Given the description of an element on the screen output the (x, y) to click on. 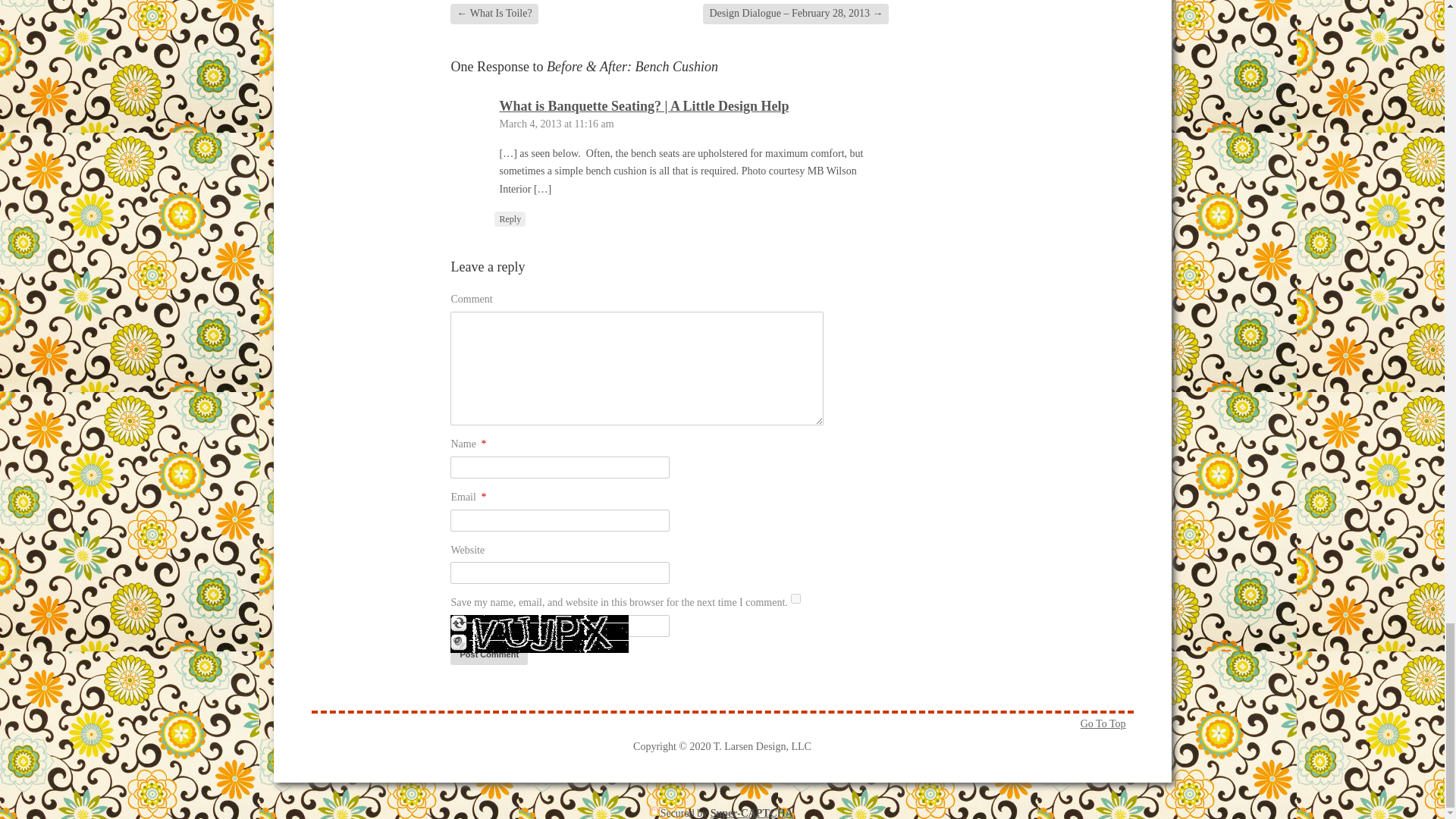
yes (795, 598)
Post Comment (488, 654)
